Given the description of an element on the screen output the (x, y) to click on. 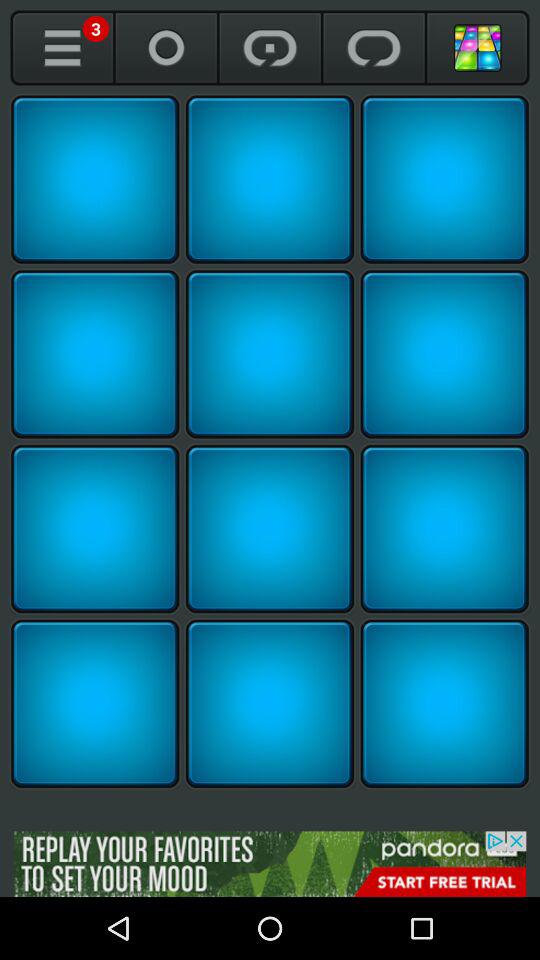
game puzzle (95, 354)
